Given the description of an element on the screen output the (x, y) to click on. 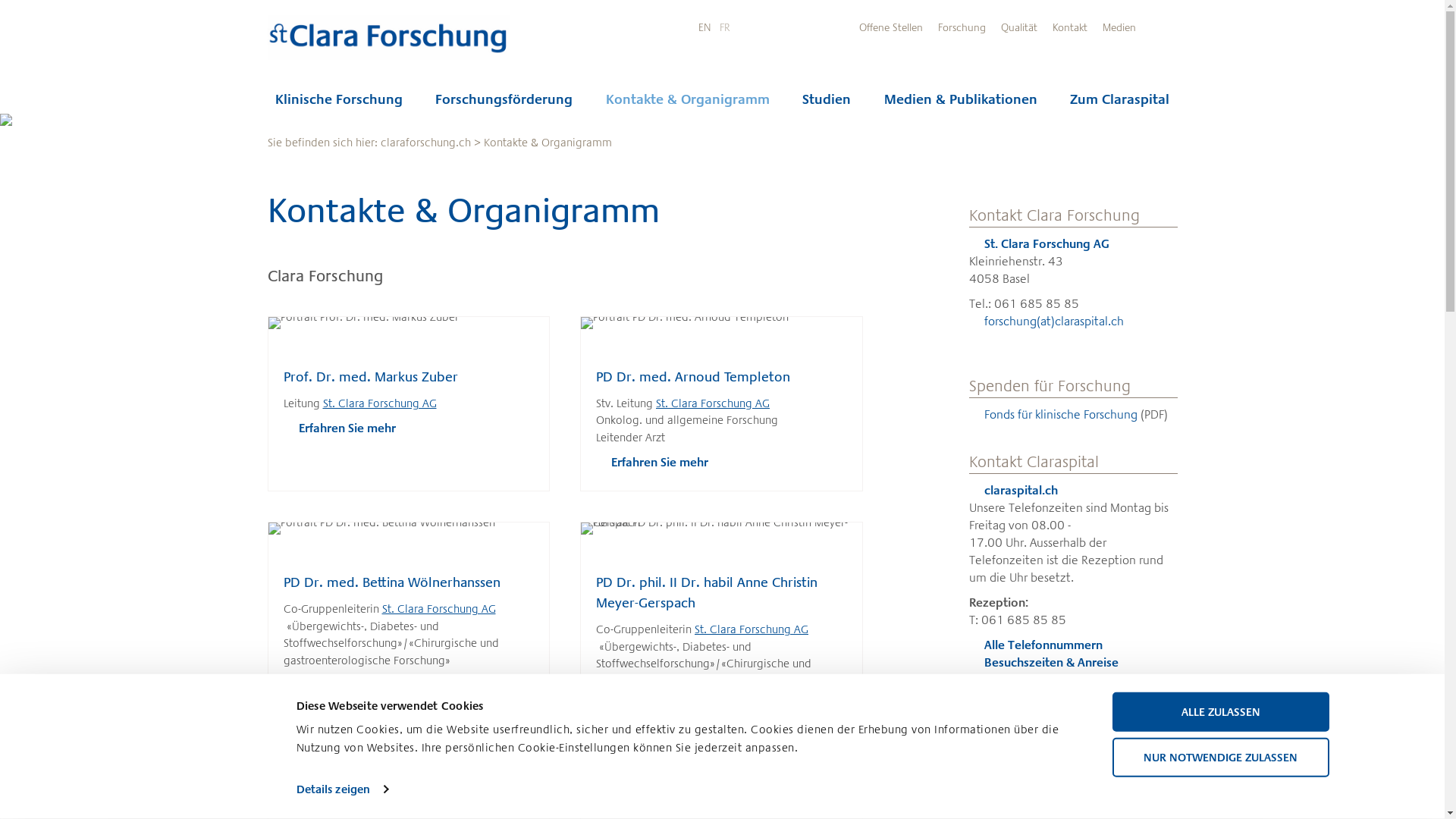
Forschung Element type: text (960, 27)
Alle Telefonnummern Element type: text (1037, 644)
Medien & Publikationen Element type: text (960, 99)
Erfahren Sie mehr Element type: text (341, 684)
claraforschung.ch Element type: text (425, 142)
forschung(at)claraspital.ch Element type: text (1048, 320)
Erfahren Sie mehr Element type: text (654, 705)
Erfahren Sie mehr Element type: text (341, 427)
Besuchszeiten & Anreise Element type: text (1045, 662)
St. Clara Forschung AG Element type: text (438, 608)
Kontakt Element type: text (1069, 27)
claraspital.ch Element type: text (1015, 490)
NUR NOTWENDIGE ZULASSEN Element type: text (1219, 756)
Studien Element type: text (826, 99)
Erfahren Sie mehr Element type: text (654, 462)
Kontakte & Organigramm Element type: text (687, 99)
Offene Stellen Element type: text (889, 27)
Details zeigen Element type: text (342, 789)
St. Clara Forschung AG Element type: text (751, 629)
EN Element type: text (703, 27)
Klinische Forschung Element type: text (337, 99)
Medien Element type: text (1119, 27)
Zum Claraspital Element type: text (1119, 99)
St. Clara Forschung AG Element type: text (379, 403)
ALLE ZULASSEN Element type: text (1219, 711)
St. Clara Forschung AG Element type: text (1041, 243)
St. Clara Forschung AG Element type: text (712, 403)
Claraforschung Logo Element type: hover (363, 42)
